Given the description of an element on the screen output the (x, y) to click on. 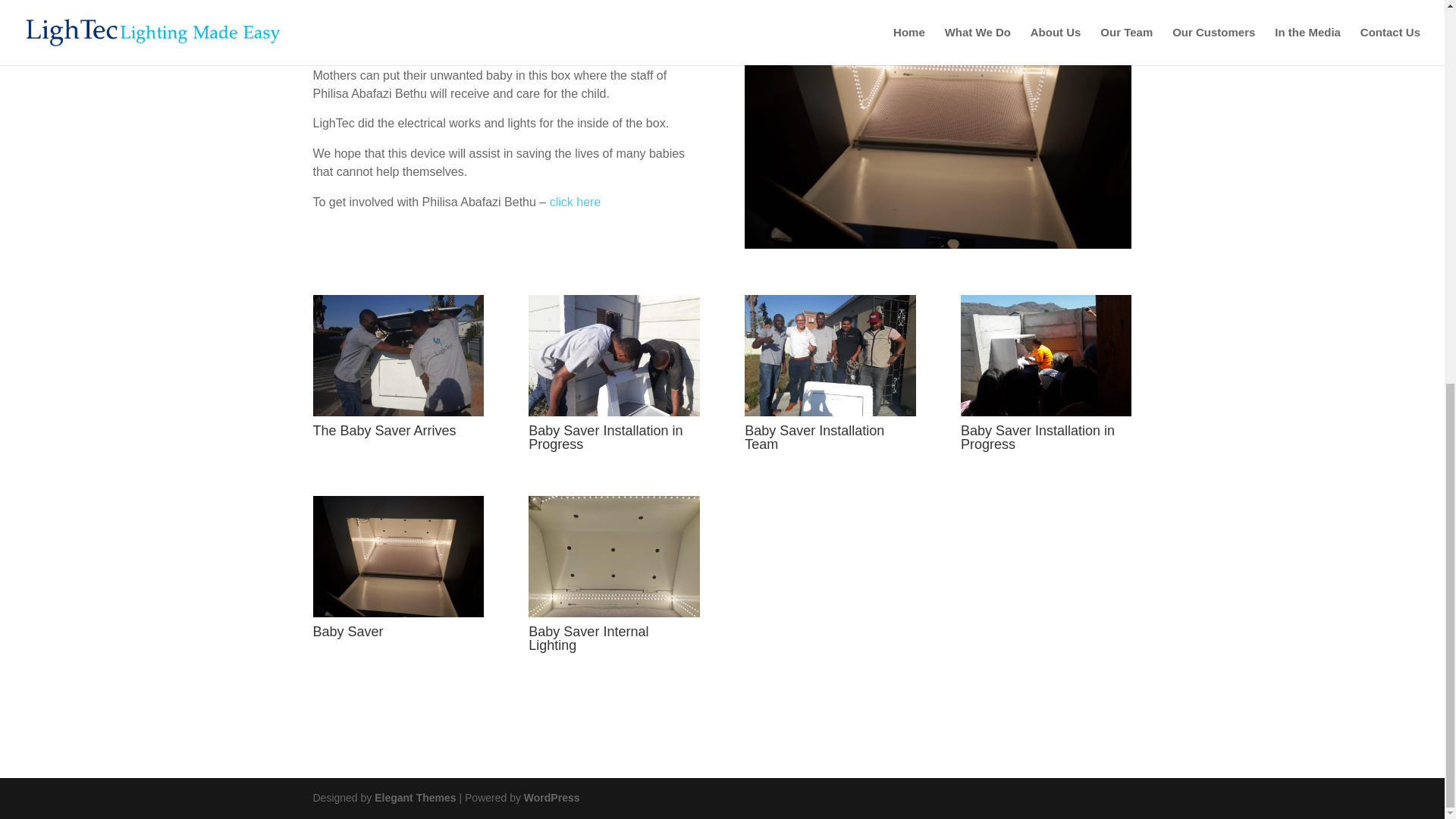
Baby Saver Installation Team (829, 416)
WordPress (551, 797)
Baby Saver Internal Lighting (613, 616)
Baby Saver (398, 616)
Premium WordPress Themes (414, 797)
click here (575, 201)
Baby Saver Installation in Progress (1045, 416)
Baby Saver Installation in Progress (613, 416)
The Baby Saver Arrives (398, 416)
Elegant Themes (414, 797)
